Given the description of an element on the screen output the (x, y) to click on. 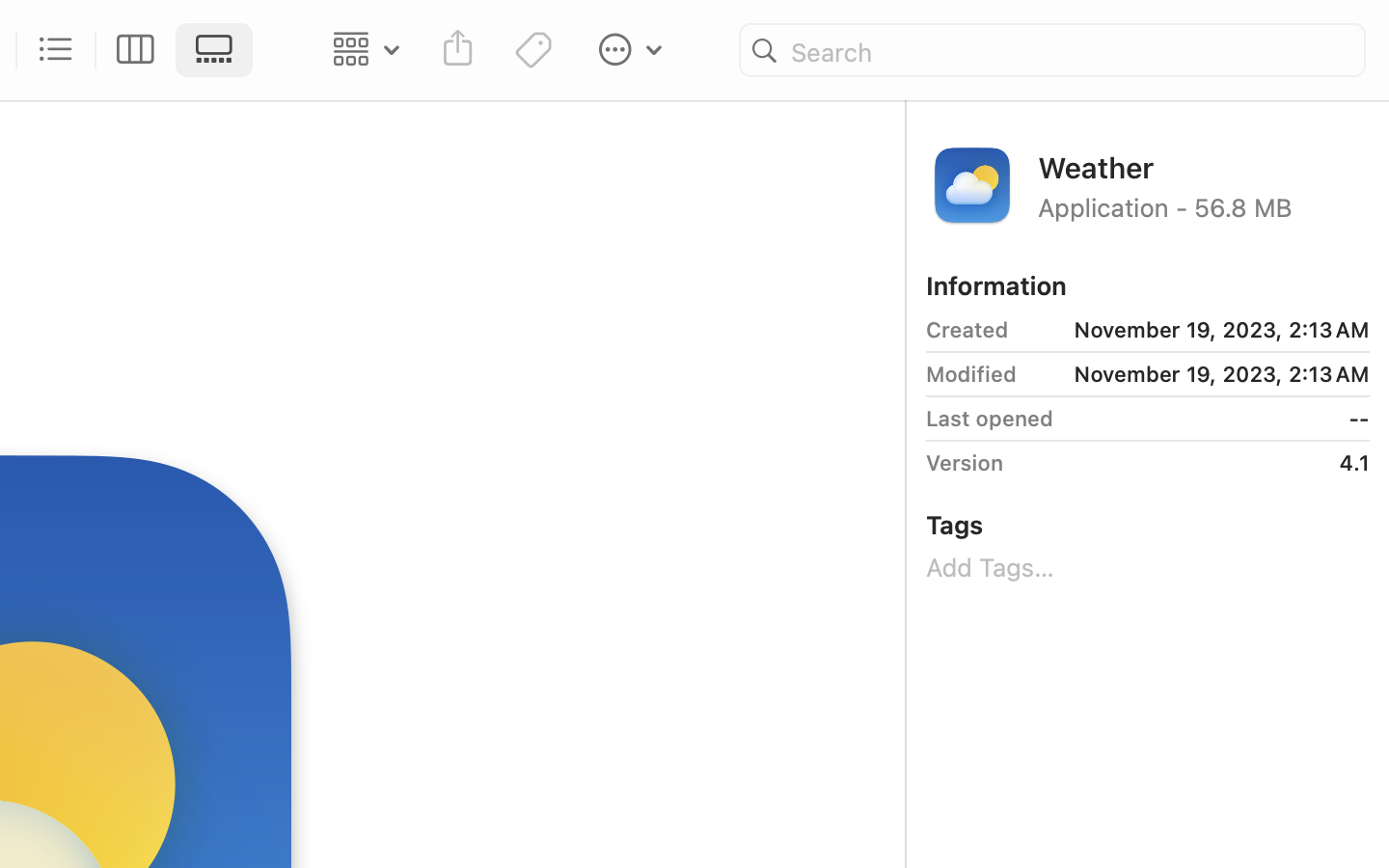
1 Element type: AXRadioButton (219, 49)
Last opened Element type: AXStaticText (989, 418)
Application - 56.8 MB Element type: AXStaticText (1203, 205)
Version Element type: AXStaticText (964, 462)
Weather Element type: AXStaticText (1203, 165)
